Given the description of an element on the screen output the (x, y) to click on. 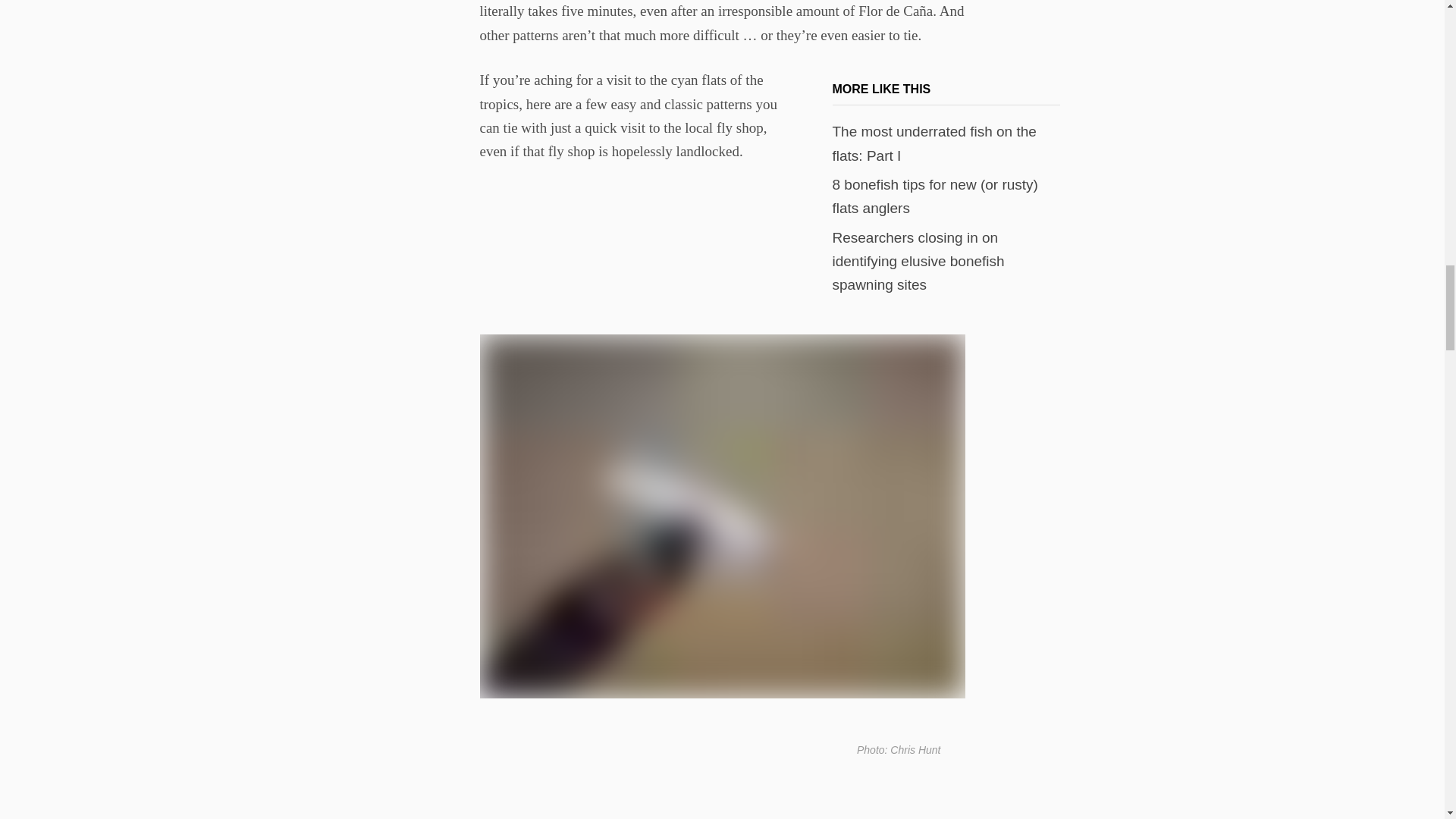
The most underrated fish on the flats: Part I (934, 142)
